Given the description of an element on the screen output the (x, y) to click on. 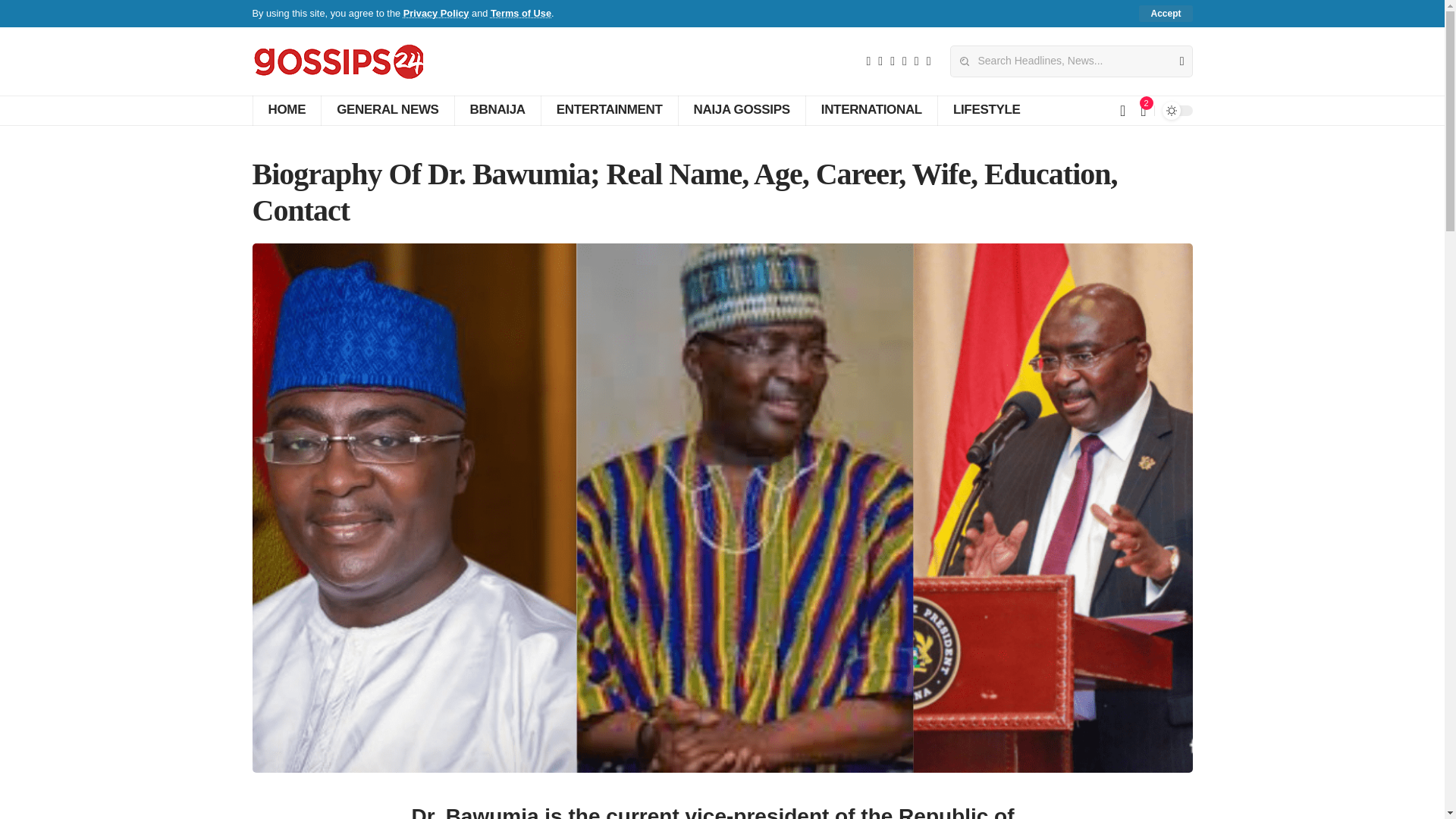
HOME (285, 110)
Terms of Use (520, 12)
LIFESTYLE (986, 110)
ENTERTAINMENT (609, 110)
Search (1175, 60)
Gossips24.com (336, 61)
INTERNATIONAL (871, 110)
NAIJA GOSSIPS (741, 110)
Accept (1165, 13)
GENERAL NEWS (386, 110)
